Given the description of an element on the screen output the (x, y) to click on. 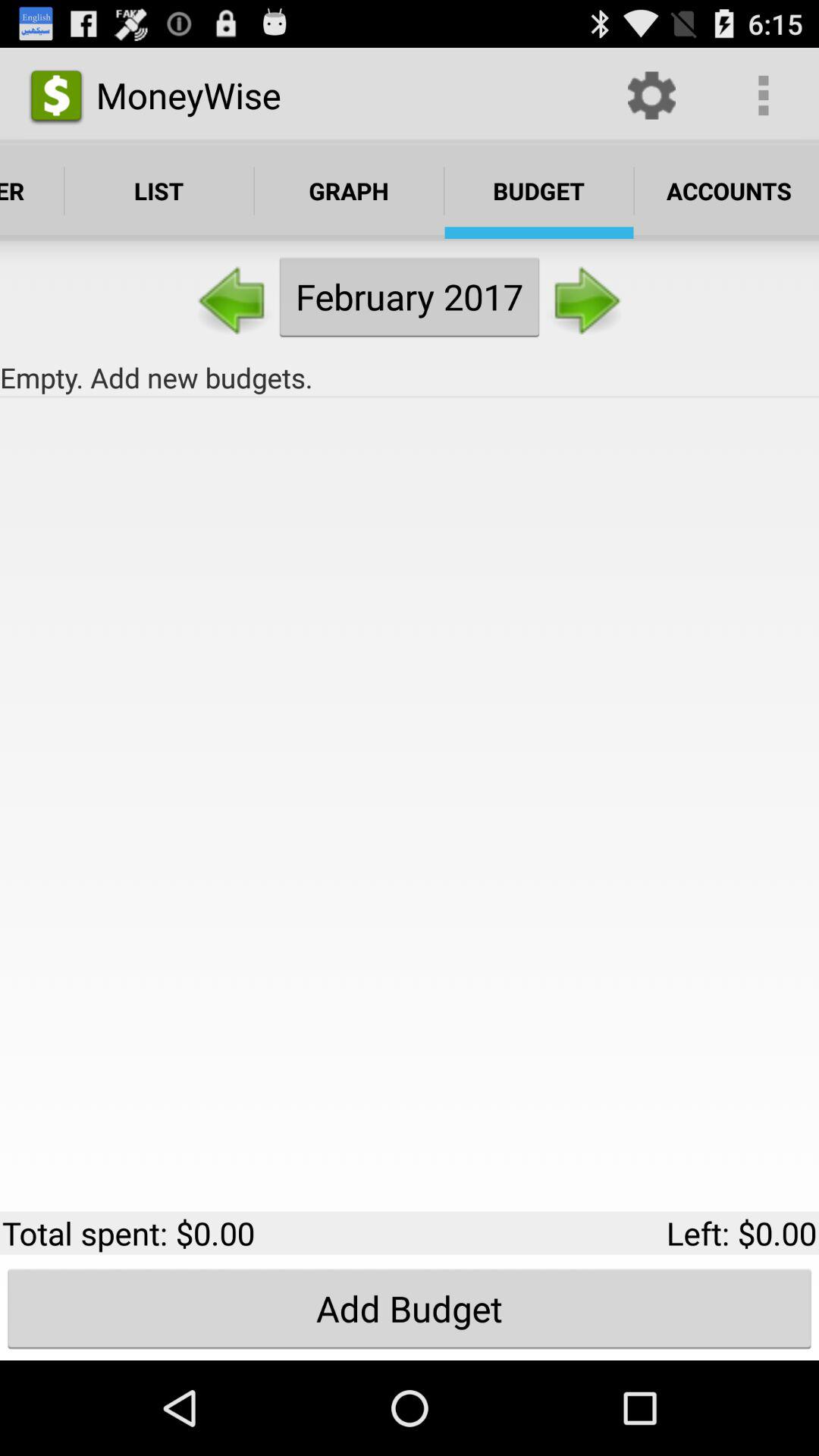
choose the item next to february 2017 item (233, 296)
